Given the description of an element on the screen output the (x, y) to click on. 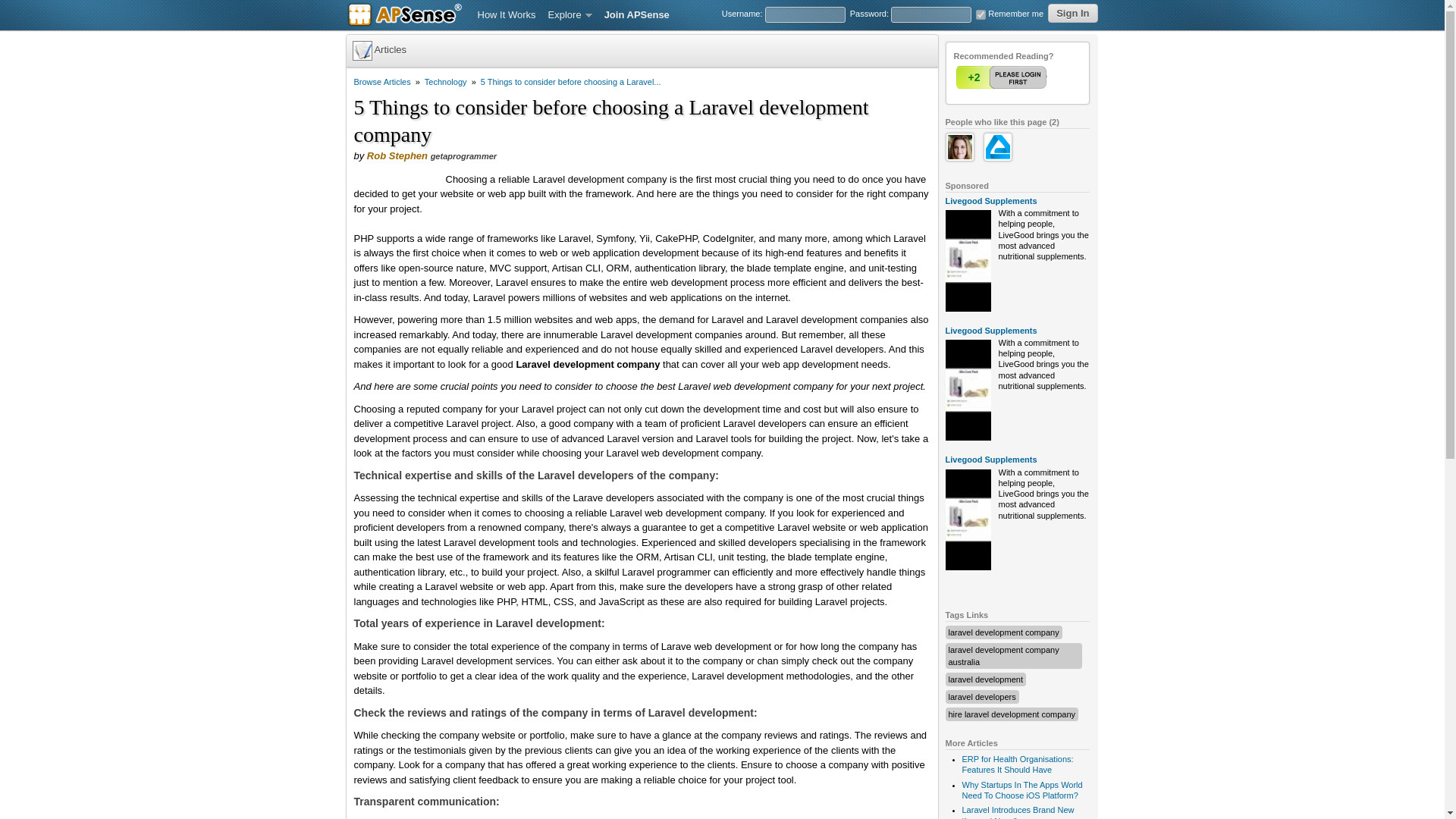
Vote Down (1031, 77)
How It Works (506, 15)
Votes Up (973, 77)
ERP for Health Organisations: Features It Should Have (1016, 763)
Technology (446, 81)
5 Things to consider before choosing a Laravel... (570, 81)
Browse Articles (381, 81)
Livegood Supplements (990, 459)
Sign In (1072, 13)
1 (1002, 77)
